Given the description of an element on the screen output the (x, y) to click on. 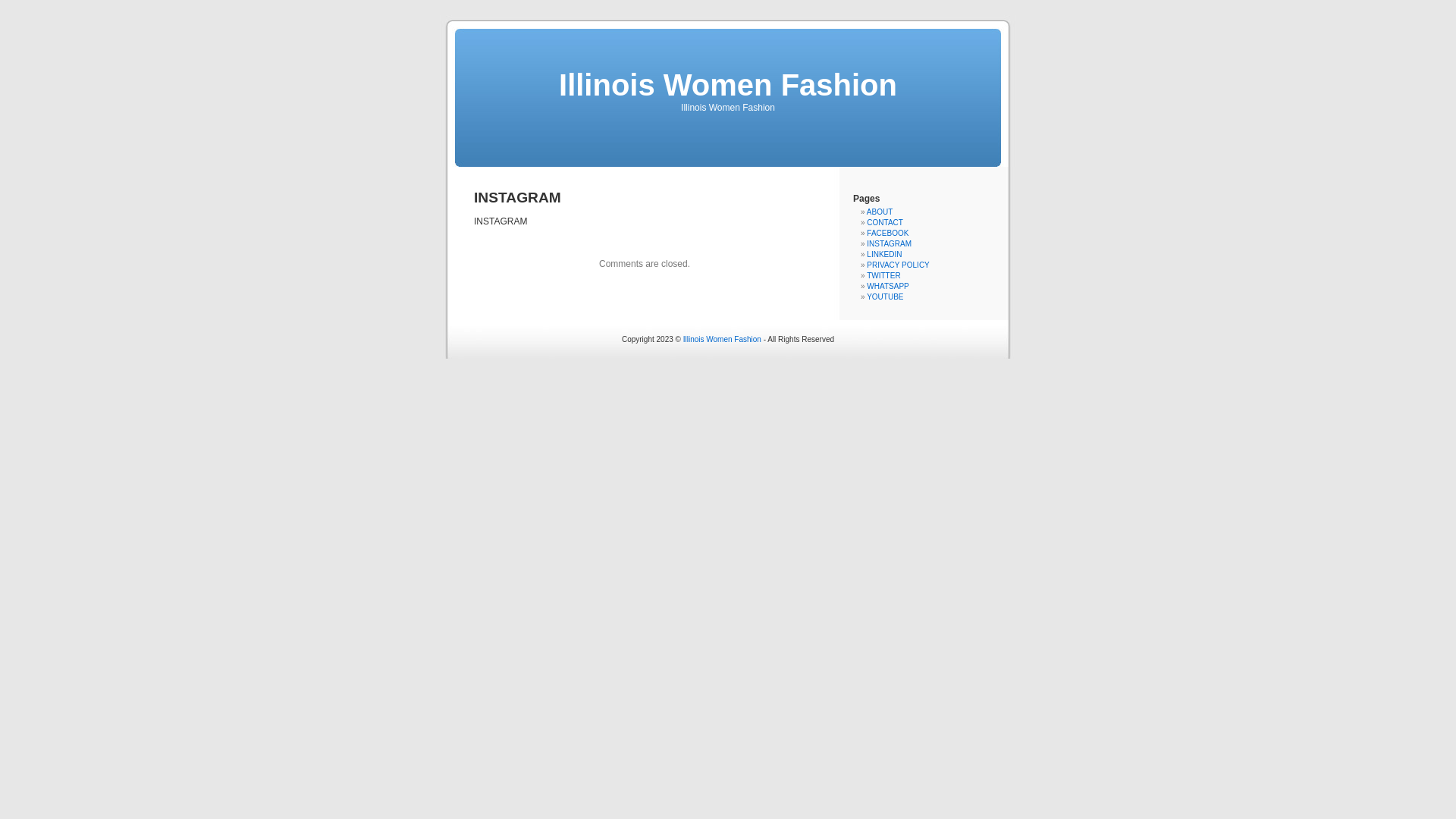
PRIVACY POLICY Element type: text (897, 264)
YOUTUBE Element type: text (884, 296)
FACEBOOK Element type: text (887, 233)
LINKEDIN Element type: text (883, 254)
Illinois Women Fashion Element type: text (727, 84)
INSTAGRAM Element type: text (888, 243)
CONTACT Element type: text (884, 222)
WHATSAPP Element type: text (887, 286)
Illinois Women Fashion Element type: text (722, 339)
ABOUT Element type: text (879, 211)
TWITTER Element type: text (883, 275)
